Given the description of an element on the screen output the (x, y) to click on. 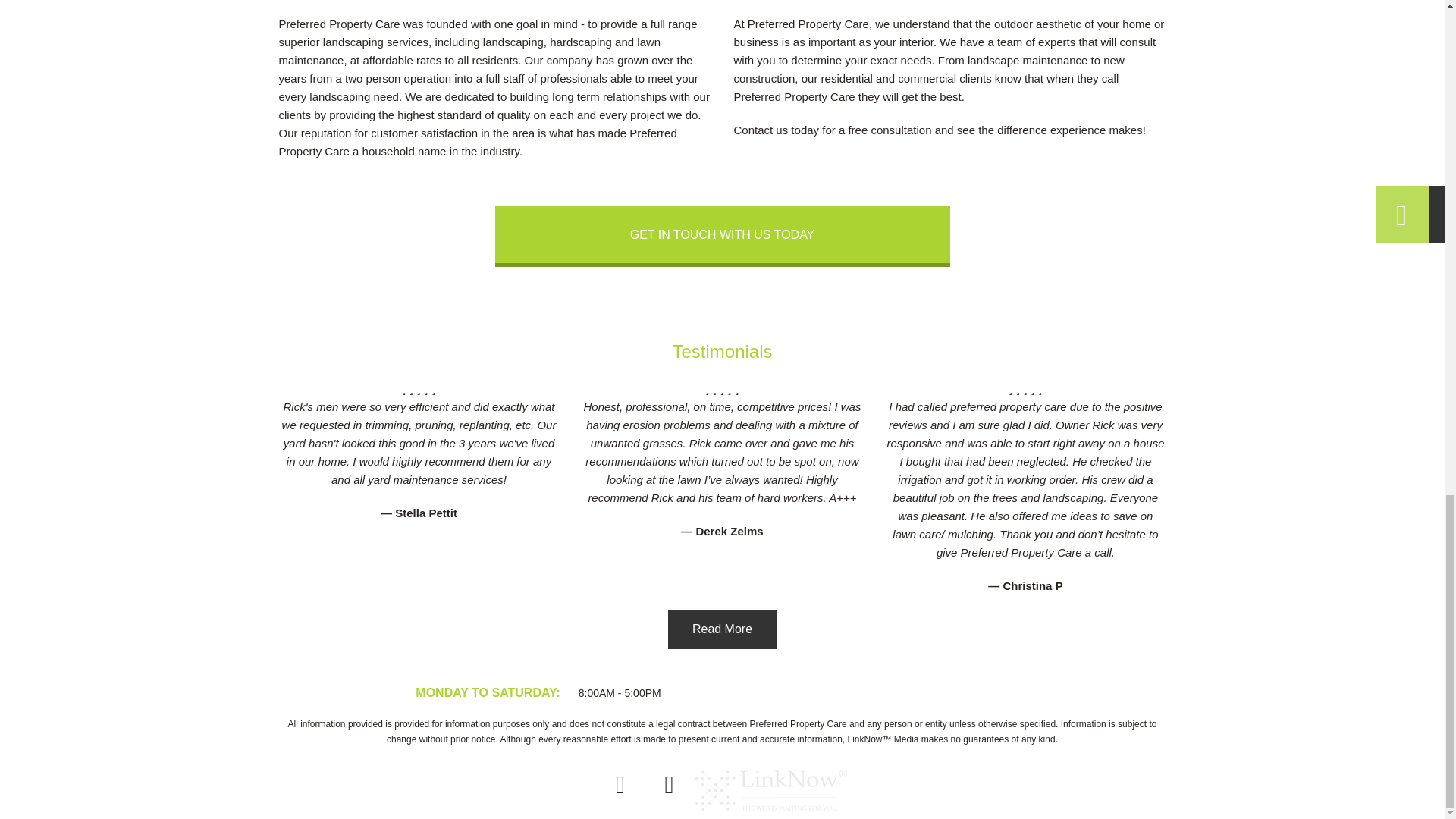
map (668, 788)
Connnect with Facebook (619, 788)
